Given the description of an element on the screen output the (x, y) to click on. 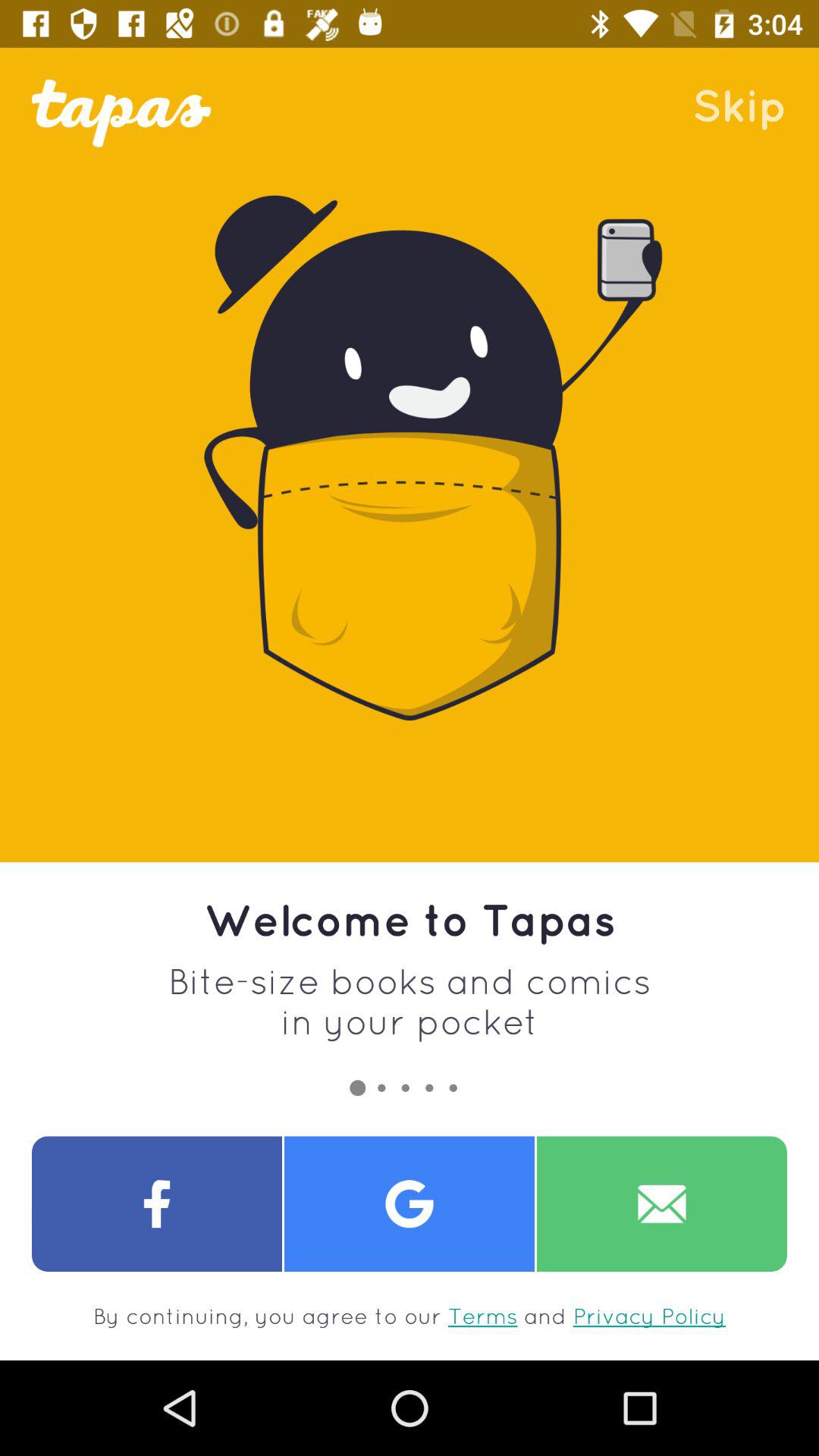
turn off the skip item (739, 104)
